Given the description of an element on the screen output the (x, y) to click on. 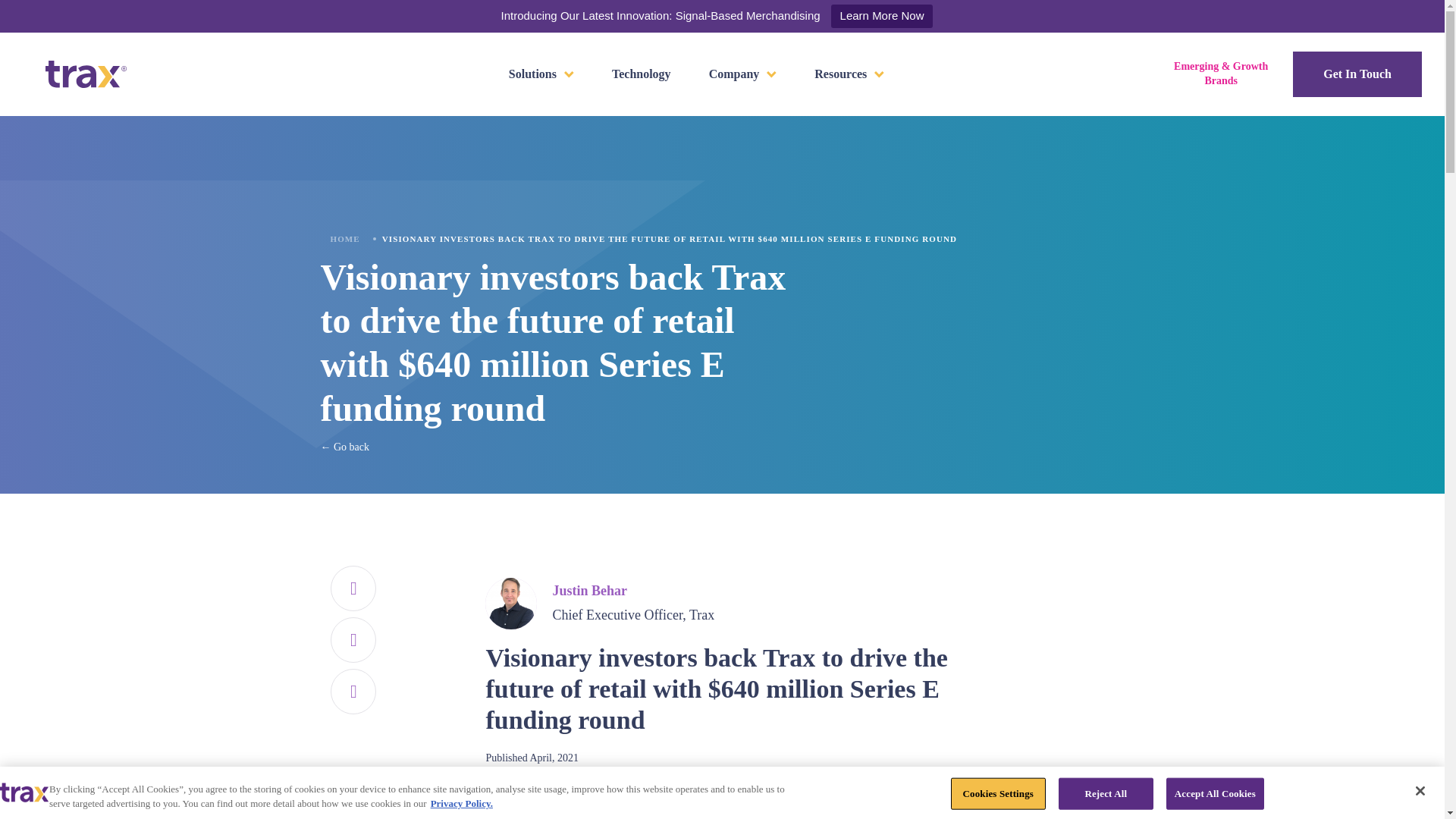
Justin Behar (589, 590)
Twitter (352, 639)
Get In Touch (1357, 74)
Company (743, 73)
Facebook (352, 587)
Company Logo (24, 792)
Solutions (540, 73)
Linkedin (352, 691)
Go to Home. (344, 238)
HOME (344, 238)
Technology (641, 73)
Resources (848, 73)
Learn More Now (882, 15)
